Given the description of an element on the screen output the (x, y) to click on. 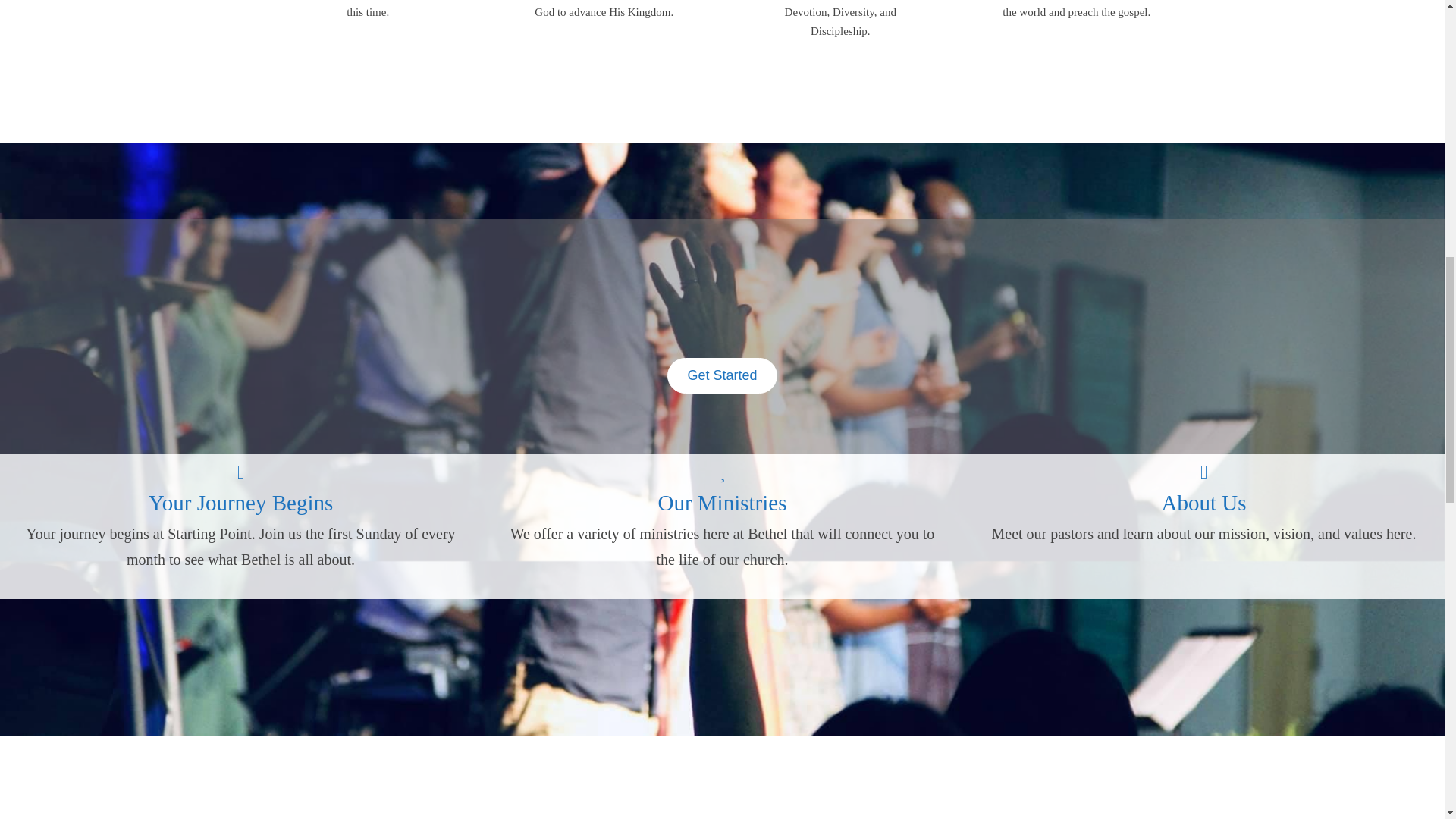
Get Started (721, 375)
